Given the description of an element on the screen output the (x, y) to click on. 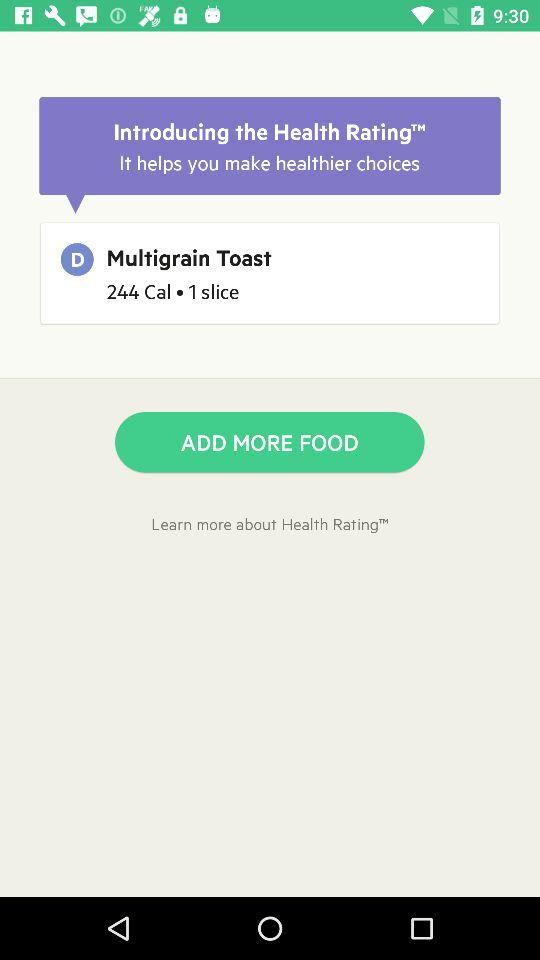
click item below add more food icon (269, 523)
